Given the description of an element on the screen output the (x, y) to click on. 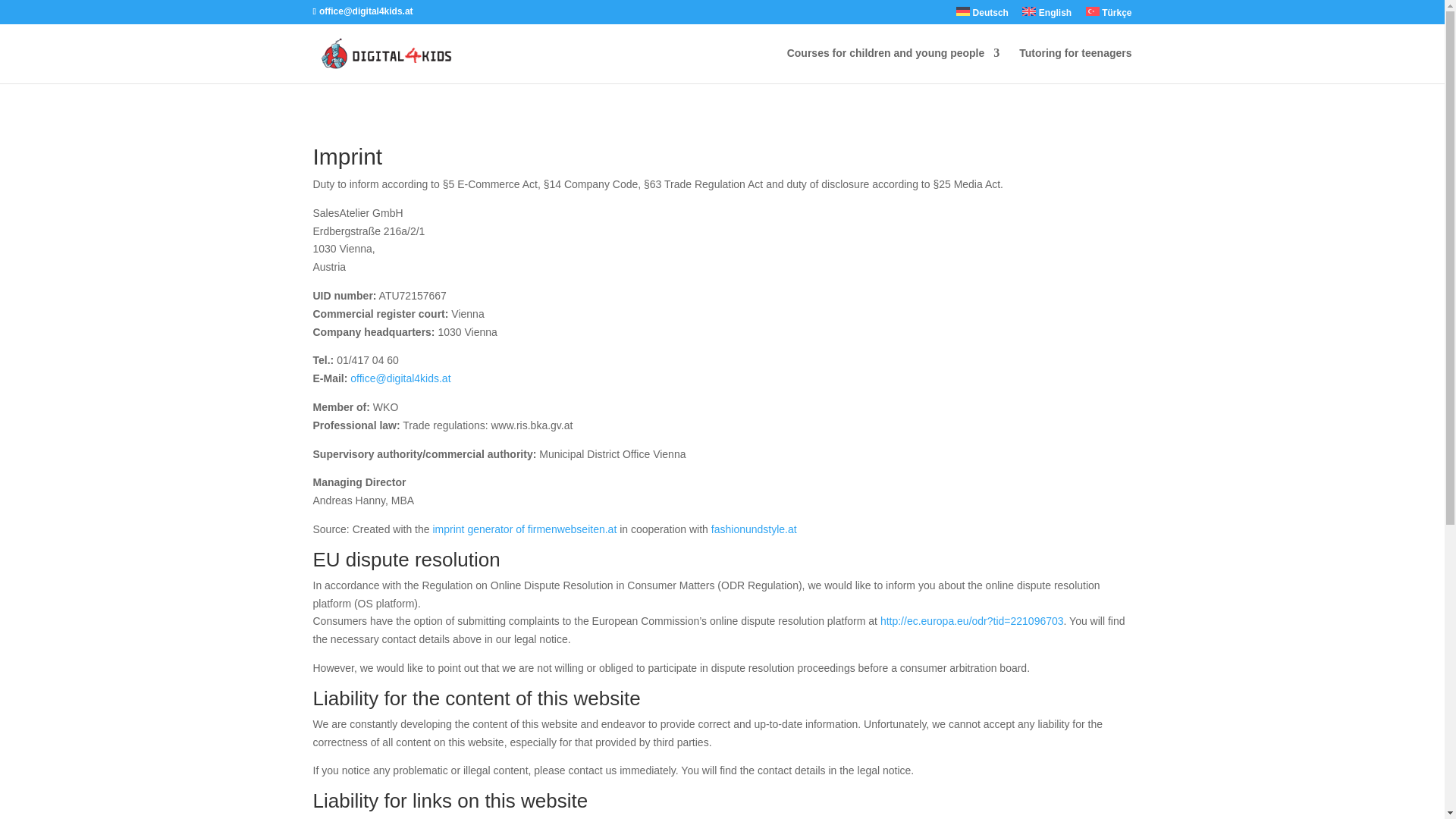
Imprint Generator from firmenwebseiten.at (523, 529)
imprint generator of firmenwebseiten.at (523, 529)
Deutsch (982, 15)
Courses for children and young people (893, 65)
fashionundstyle.at (753, 529)
English (1046, 15)
Deutsch (982, 15)
English (1046, 15)
Tutoring for teenagers (1075, 65)
